Given the description of an element on the screen output the (x, y) to click on. 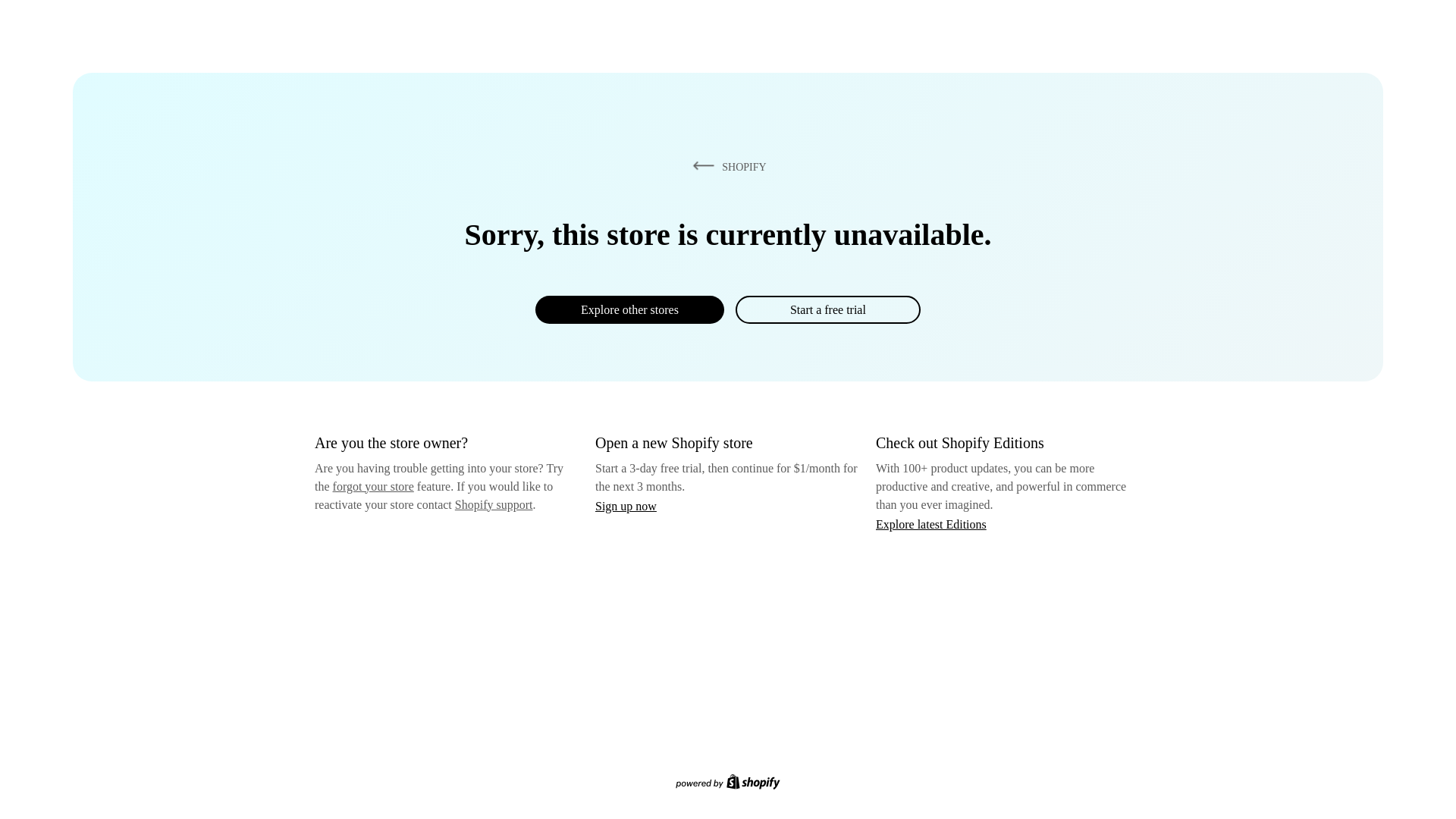
Start a free trial (827, 309)
Shopify support (493, 504)
Sign up now (625, 505)
Explore latest Editions (931, 523)
SHOPIFY (726, 166)
Explore other stores (629, 309)
forgot your store (373, 486)
